Given the description of an element on the screen output the (x, y) to click on. 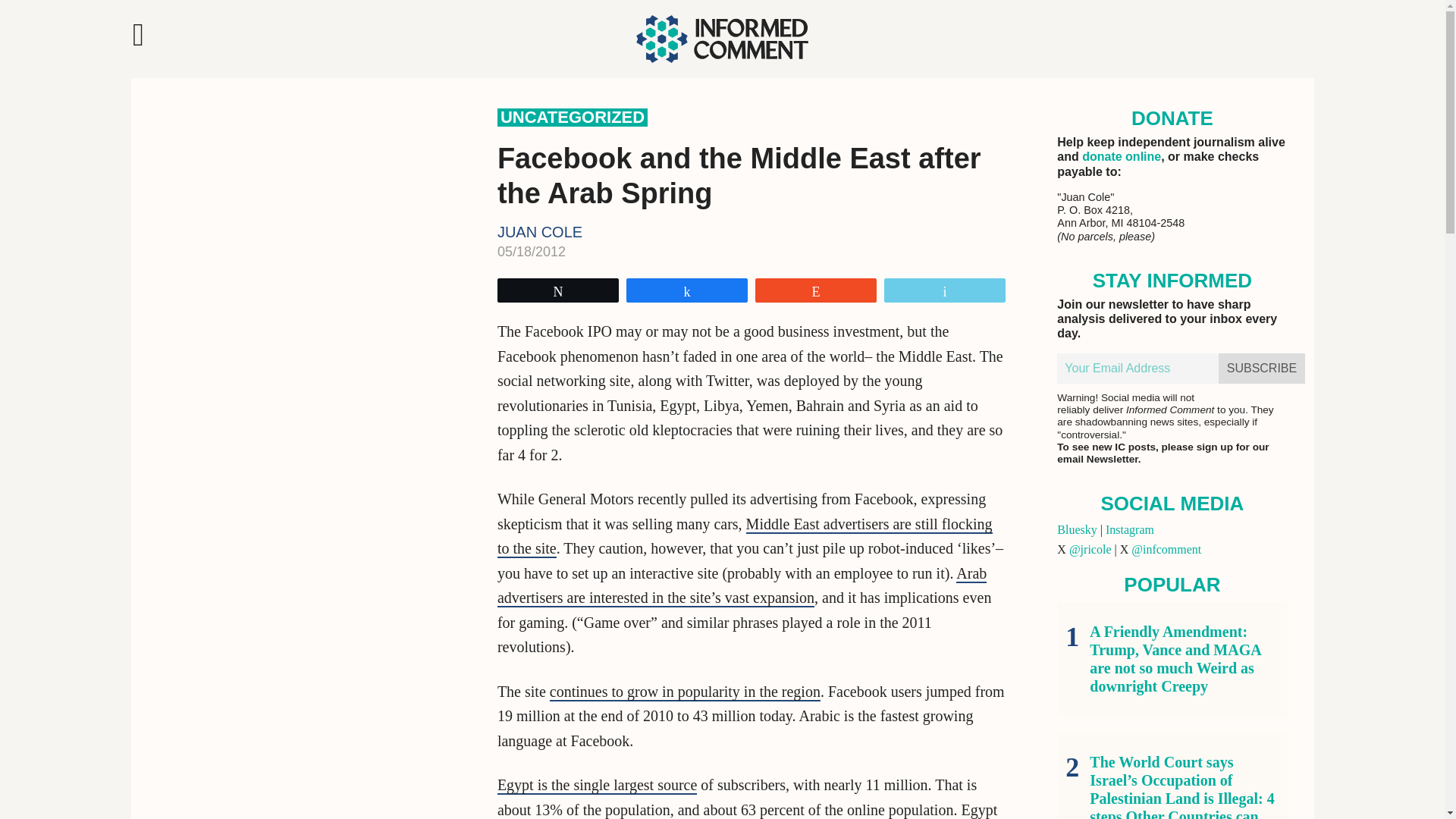
continues to grow in popularity in the region (685, 692)
JUAN COLE (539, 231)
subscribe (1262, 368)
Middle East advertisers are still flocking to the site (744, 536)
donate online (1120, 155)
UNCATEGORIZED (572, 117)
Egypt is the single largest source (597, 785)
subscribe (1262, 368)
